Given the description of an element on the screen output the (x, y) to click on. 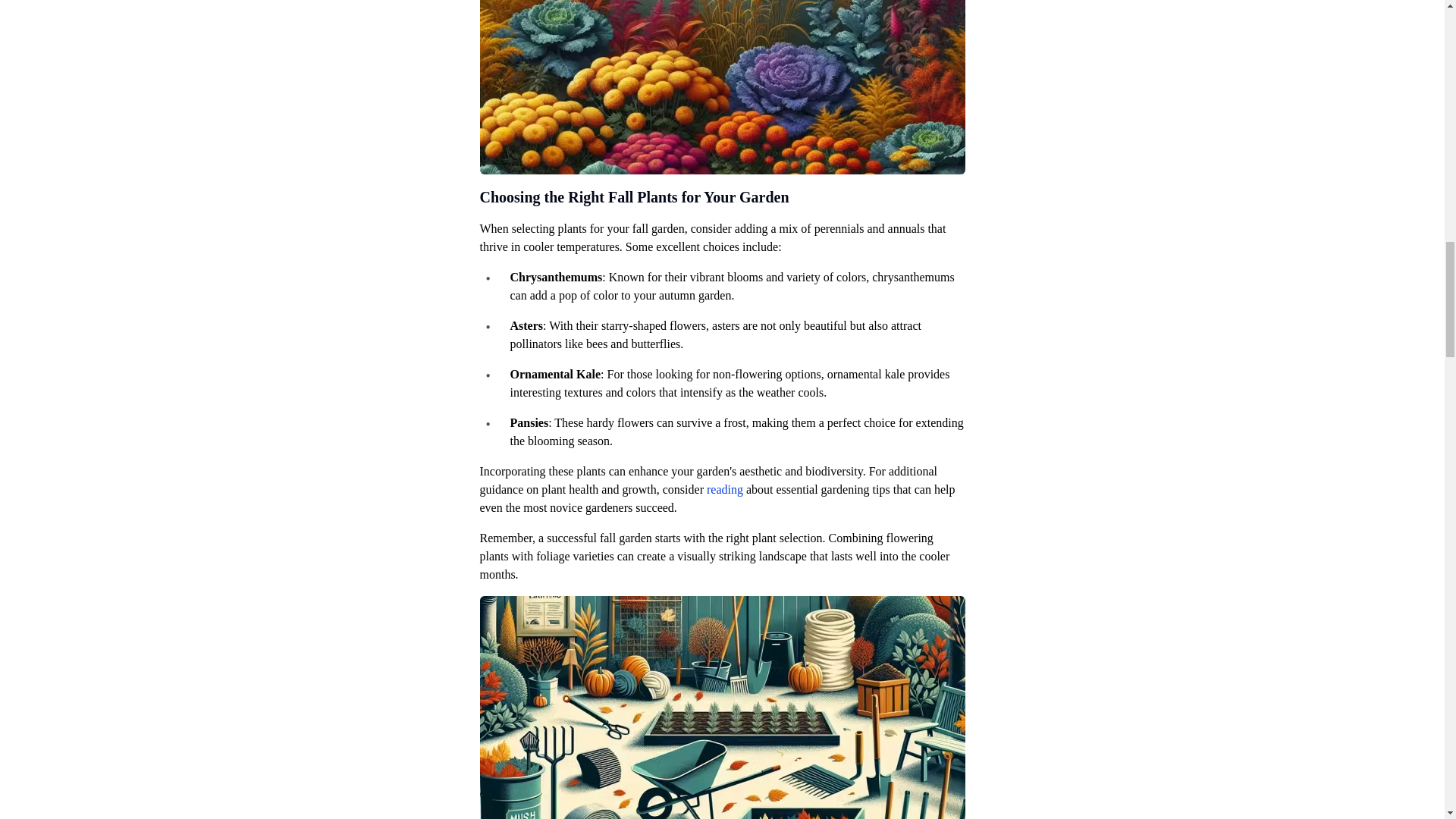
reading (724, 489)
